Given the description of an element on the screen output the (x, y) to click on. 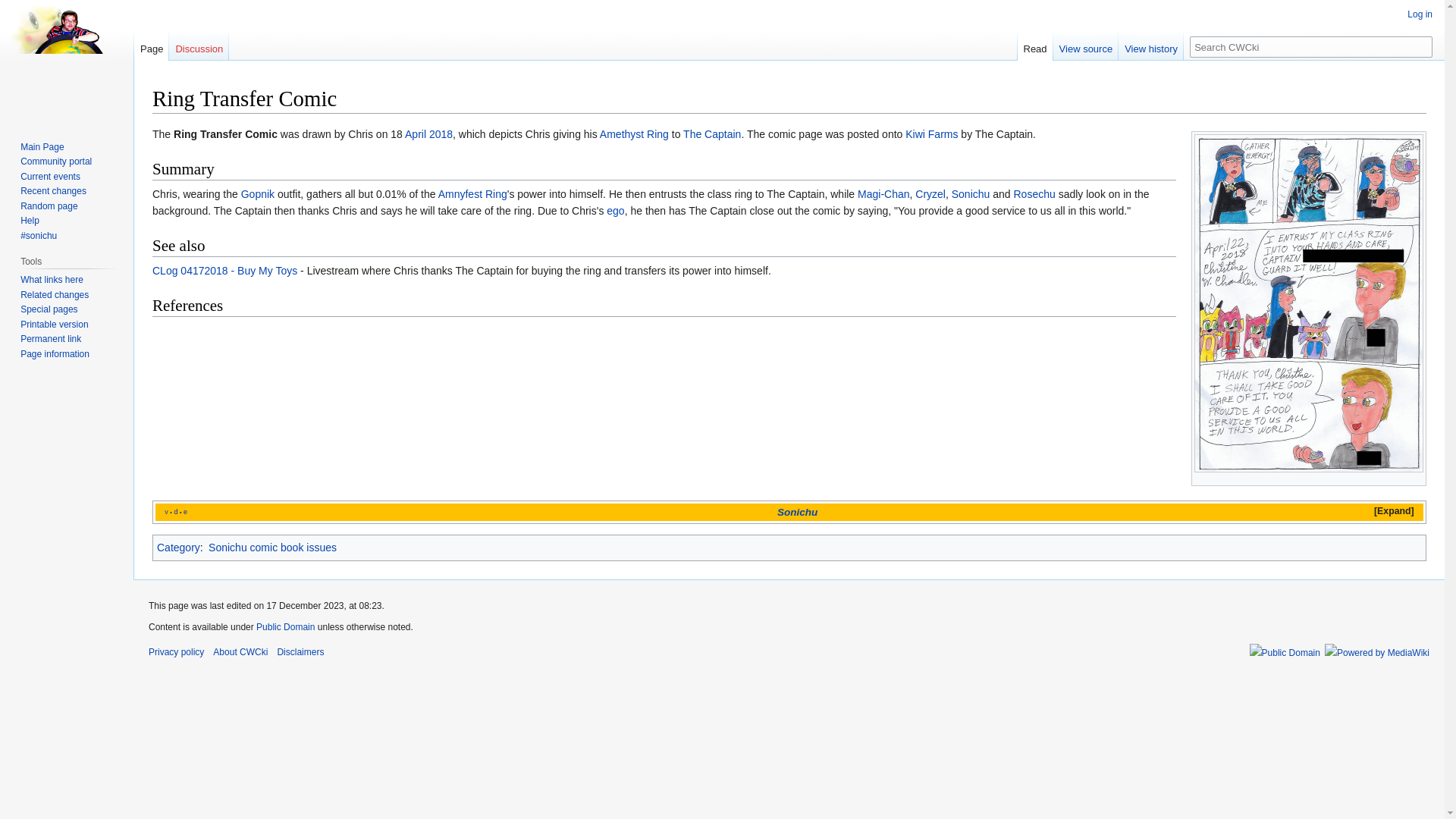
Kiwi Farms (931, 133)
Amethyst Ring (633, 133)
Cryzel (929, 193)
Kiwi Farms (931, 133)
Cryzel (929, 193)
Go (1420, 46)
CLog 04172018 - Buy My Toys (224, 270)
Gopnik (258, 193)
The Captain (711, 133)
April 2018 (428, 133)
Amnyfest Ring (472, 193)
Amnyfest Ring (472, 193)
Gopnik (258, 193)
Search (1420, 46)
